Given the description of an element on the screen output the (x, y) to click on. 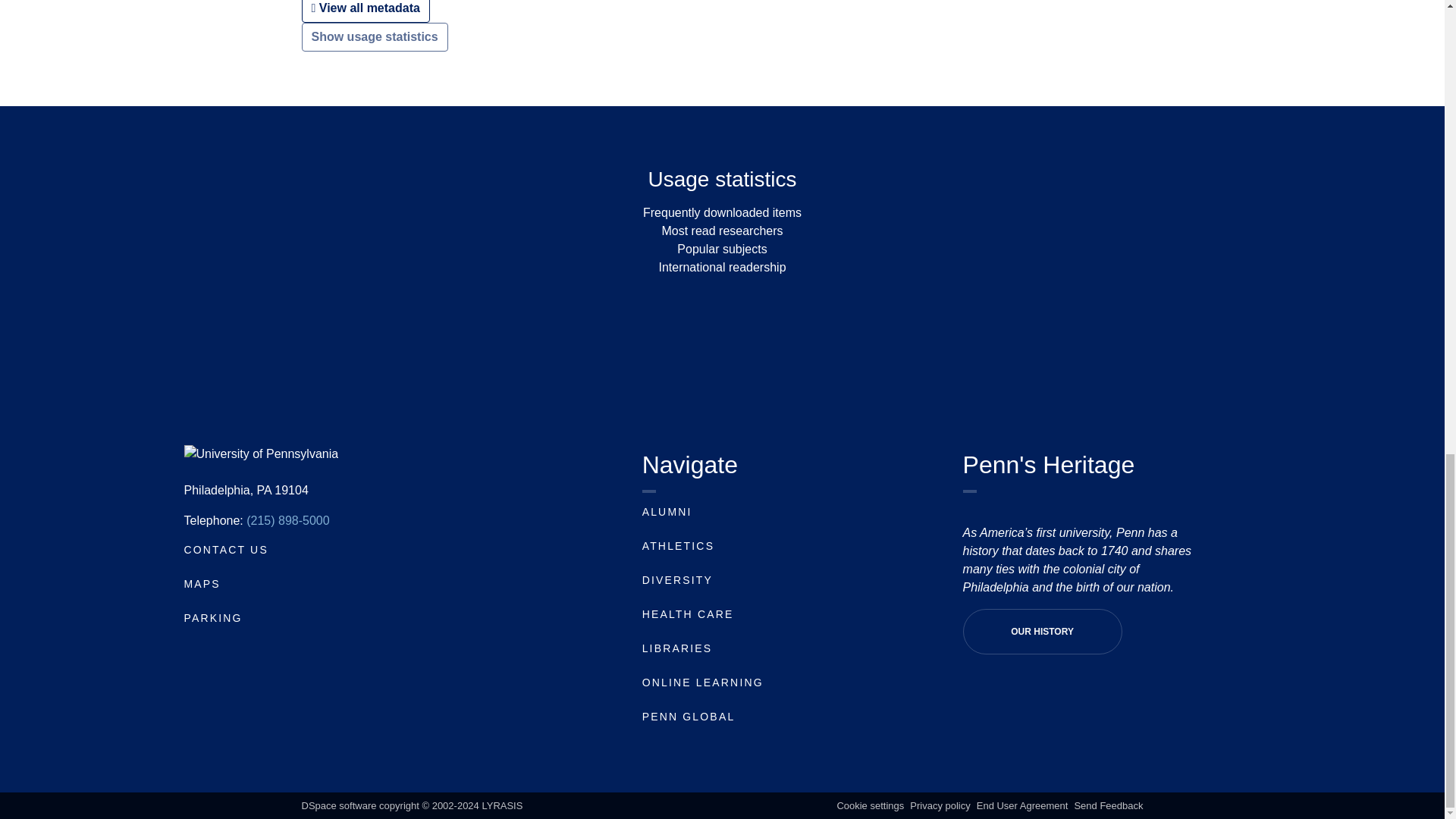
MAPS (201, 583)
DIVERSITY (677, 580)
ATHLETICS (678, 545)
Frequently downloaded items (722, 212)
LIBRARIES (677, 648)
Cookie settings (869, 805)
ONLINE LEARNING (702, 682)
Send Feedback (1108, 805)
Most read researchers (722, 230)
ALUMNI (667, 511)
International readership (722, 267)
Frequently downloaded items (722, 212)
Popular subjects (722, 248)
PENN GLOBAL (688, 716)
LYRASIS (501, 805)
